Given the description of an element on the screen output the (x, y) to click on. 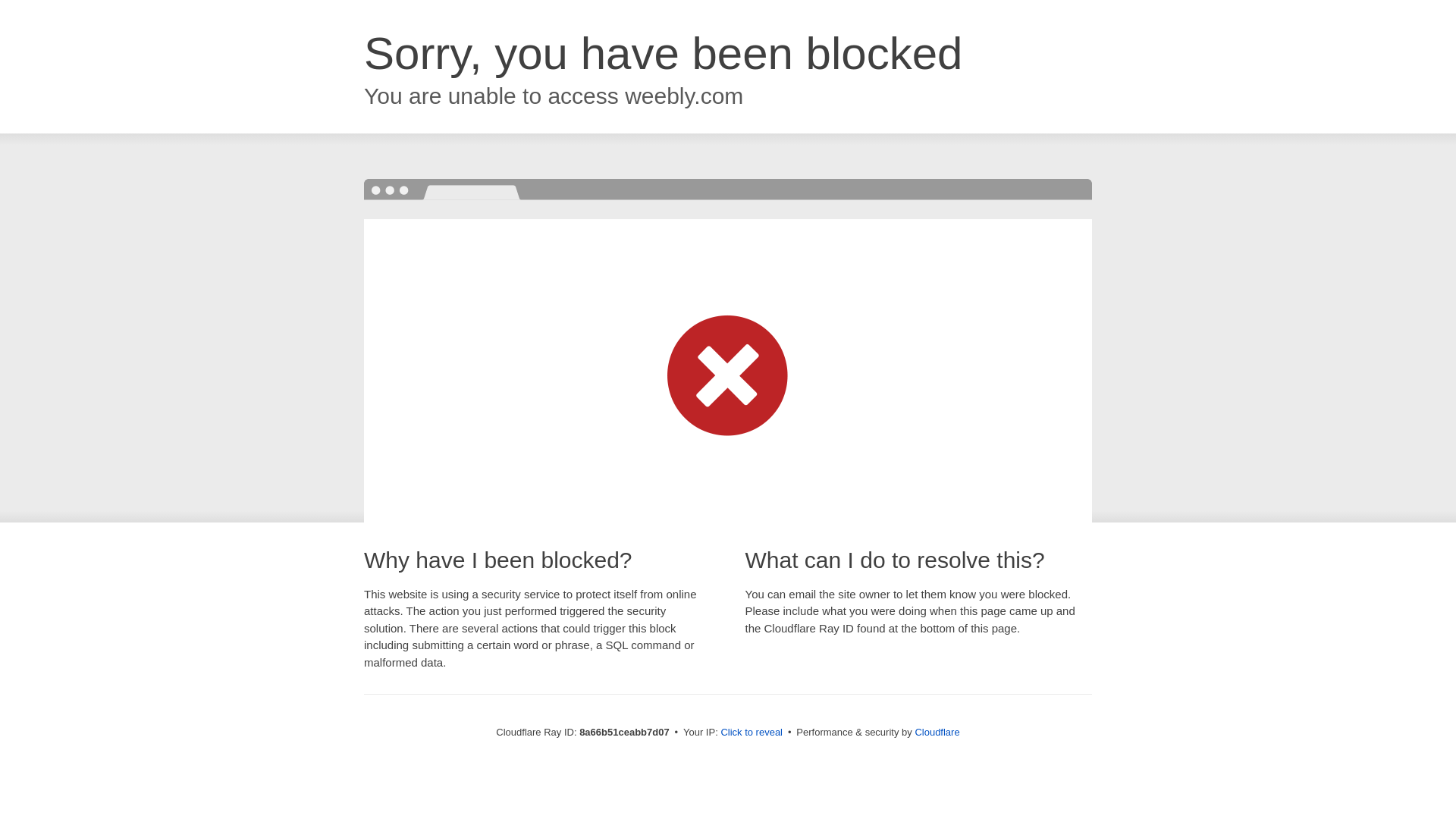
Cloudflare (936, 731)
Click to reveal (751, 732)
